Given the description of an element on the screen output the (x, y) to click on. 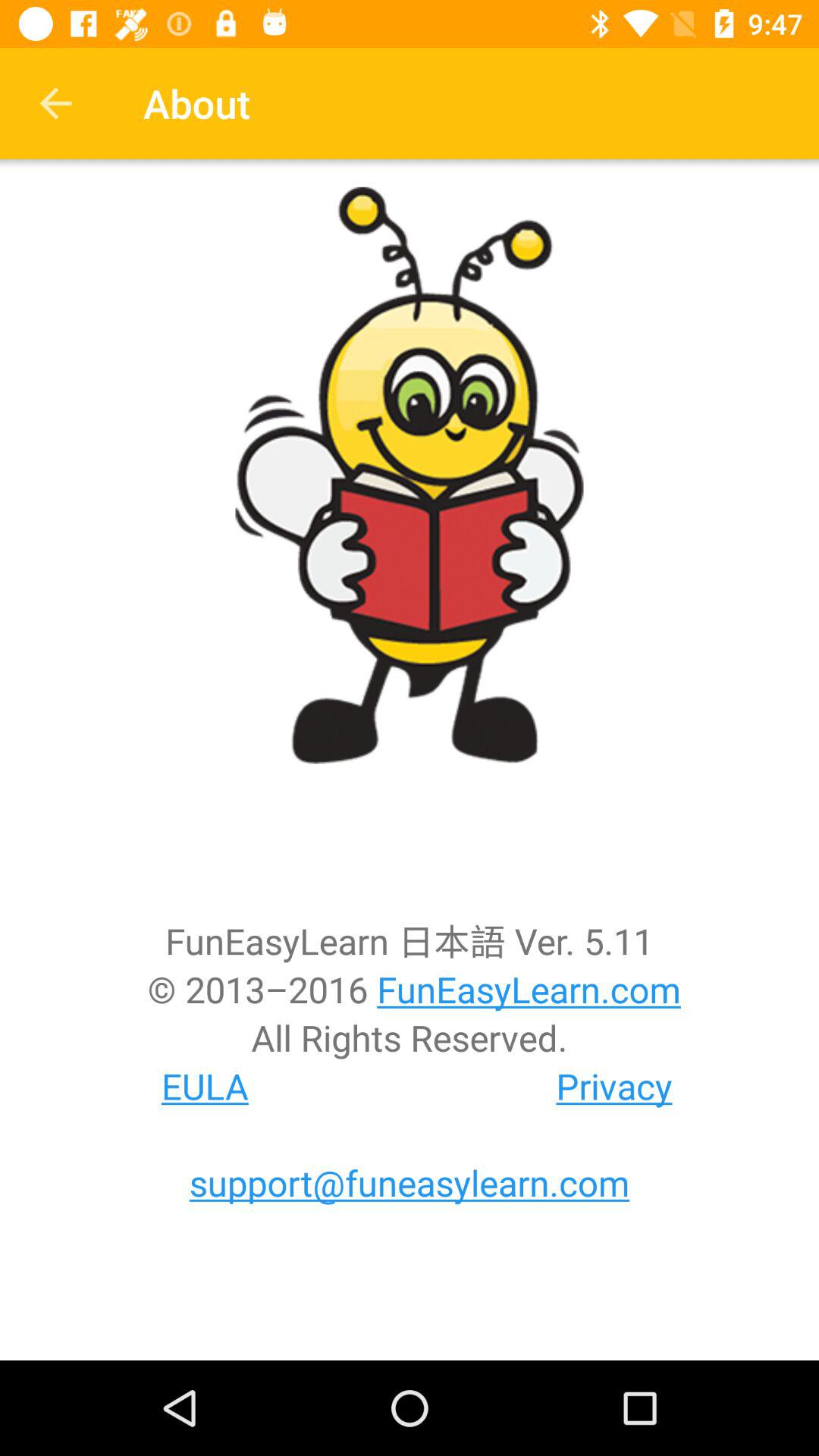
choose the icon below all rights reserved. (614, 1085)
